Given the description of an element on the screen output the (x, y) to click on. 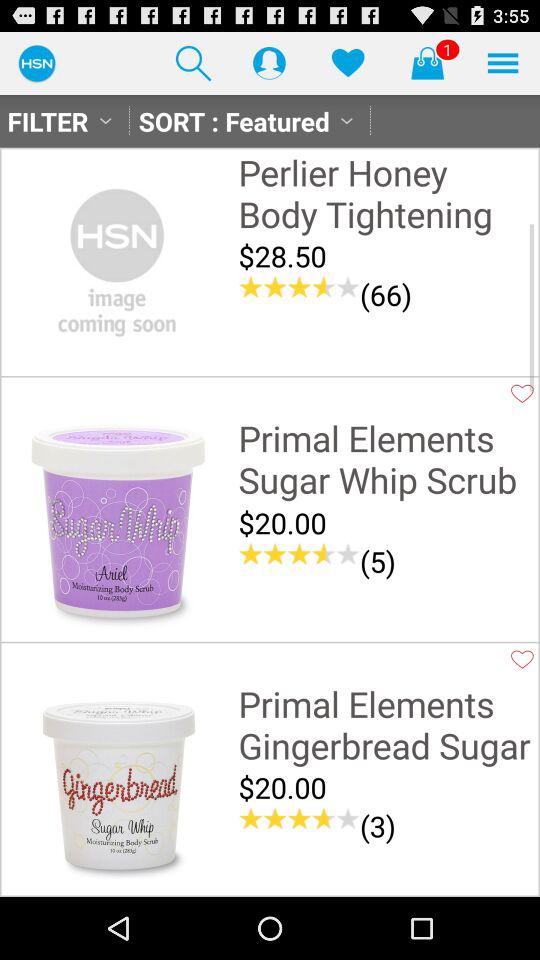
scroll until perlier honey body icon (385, 192)
